Given the description of an element on the screen output the (x, y) to click on. 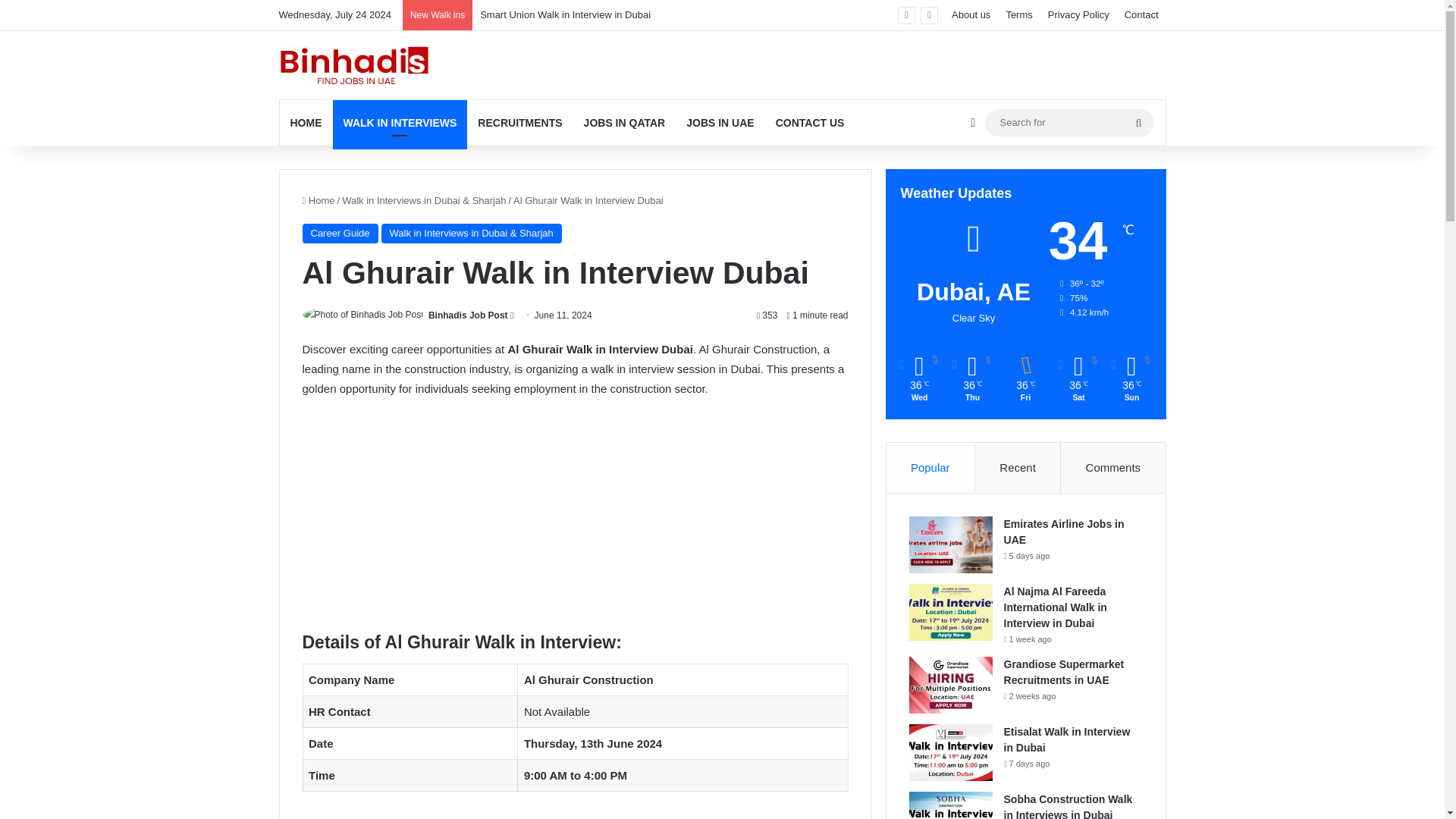
HOME (305, 122)
Advertisement (574, 523)
Contact (1141, 15)
JOBS IN UAE (719, 122)
Career Guide (339, 233)
About us (970, 15)
Binhadis (355, 64)
Privacy Policy (1078, 15)
Search for (1139, 122)
Home (317, 200)
WALK IN INTERVIEWS (399, 122)
Binhadis Job Post (468, 315)
RECRUITMENTS (519, 122)
Smart Union Walk in Interview in Dubai (565, 14)
Search for (1068, 122)
